Given the description of an element on the screen output the (x, y) to click on. 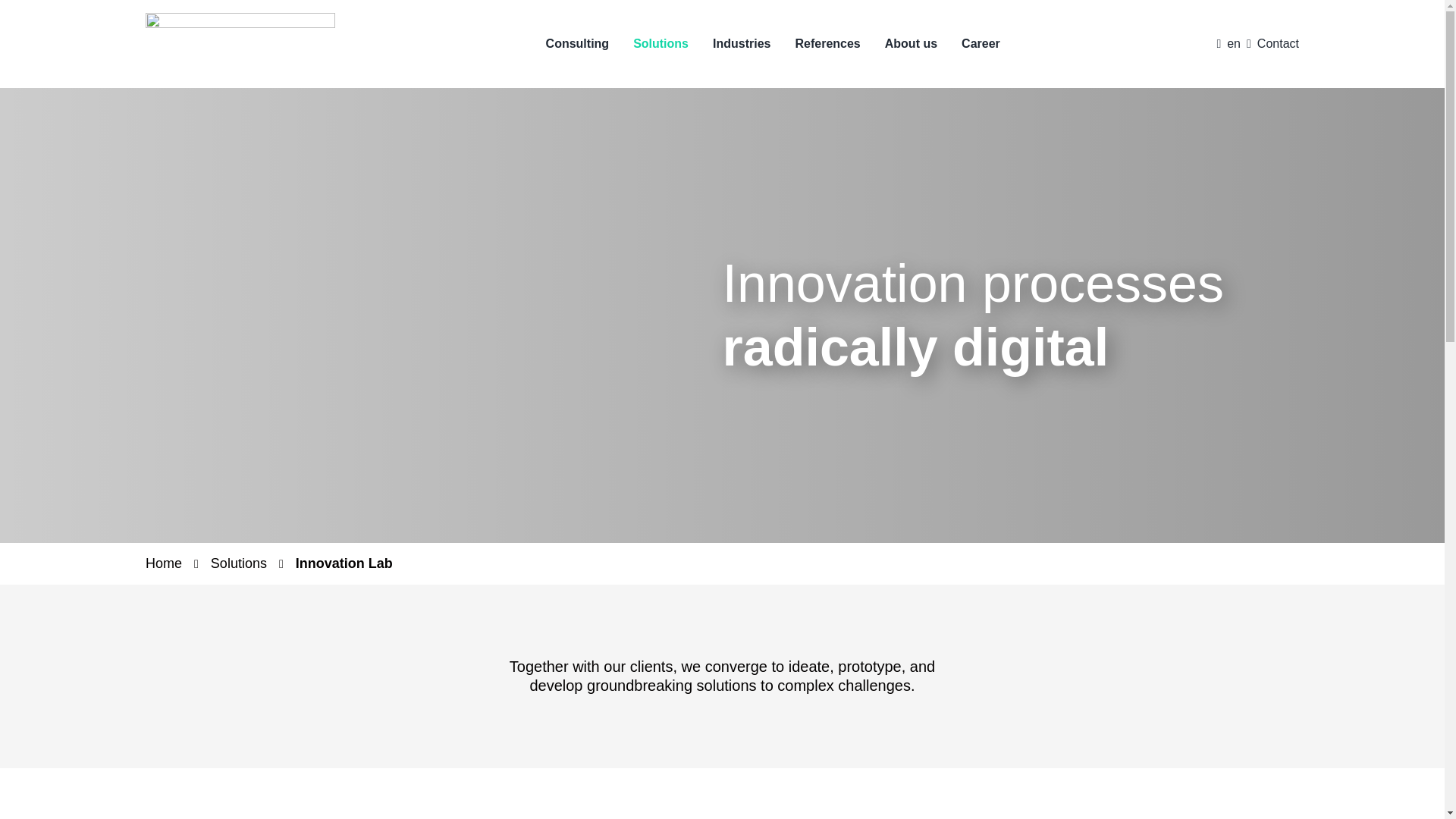
Home (163, 563)
Solutions (238, 563)
Innovation Lab (344, 563)
